Given the description of an element on the screen output the (x, y) to click on. 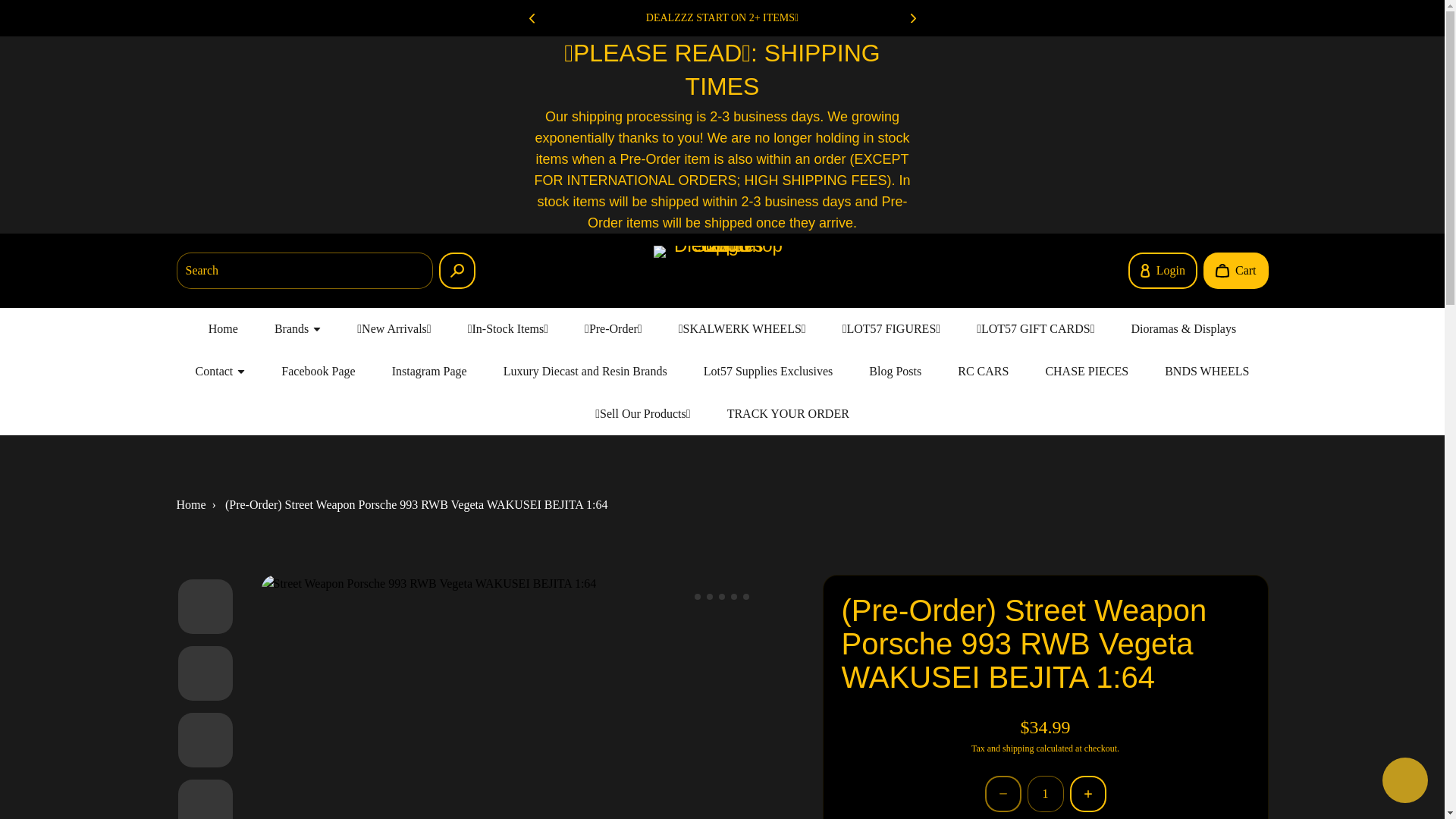
Lot57Supplies Diecast Shop (721, 270)
Login (1162, 270)
Login (1162, 270)
Cart (1236, 270)
Shopify online store chat (1404, 781)
1 (1044, 793)
